Given the description of an element on the screen output the (x, y) to click on. 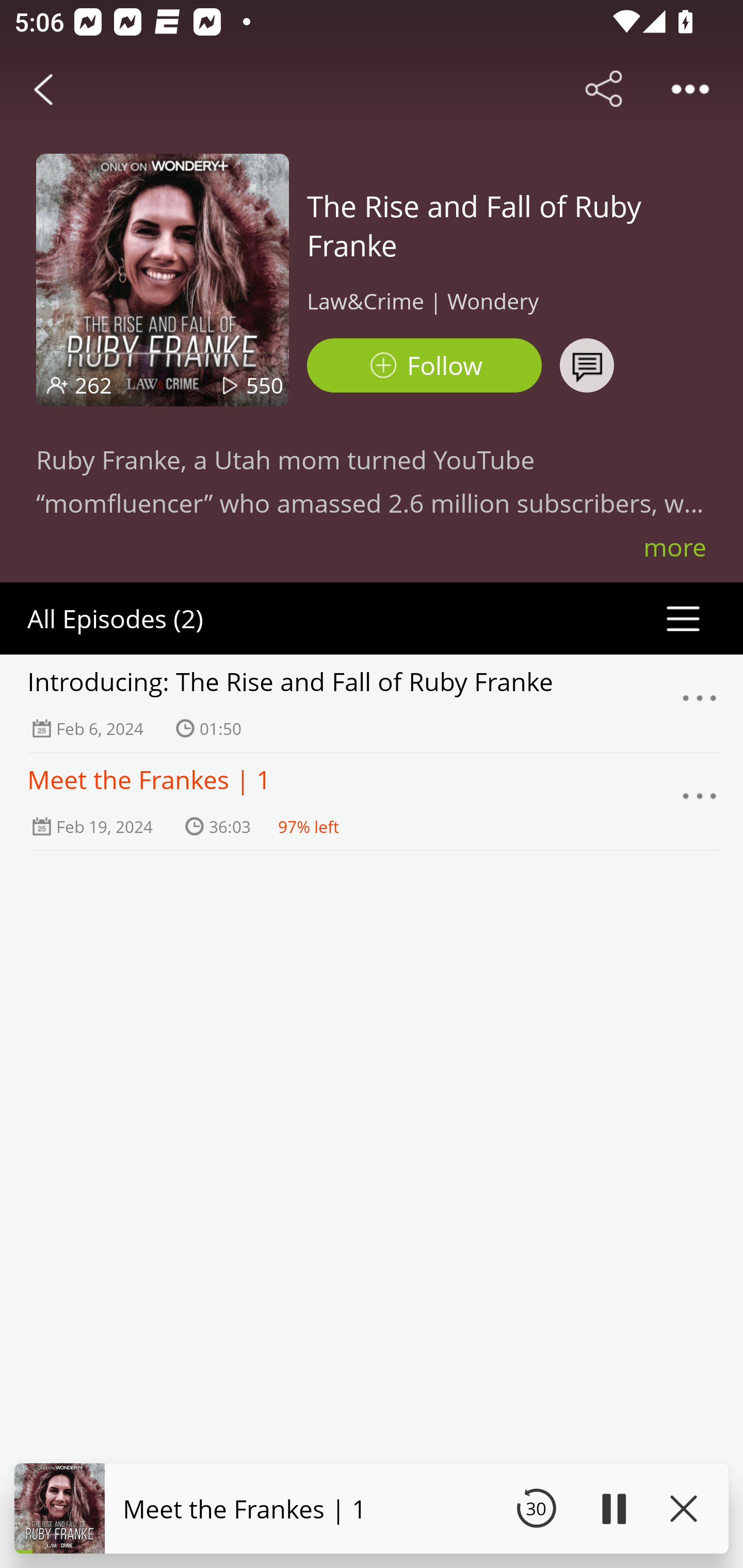
Back (43, 88)
Podbean Follow (423, 365)
262 (93, 384)
more (674, 546)
Menu (699, 703)
Menu (699, 801)
Meet the Frankes | 1 30 Seek Backward 54958.0 Play (371, 1508)
Play (613, 1507)
30 Seek Backward (536, 1508)
